Given the description of an element on the screen output the (x, y) to click on. 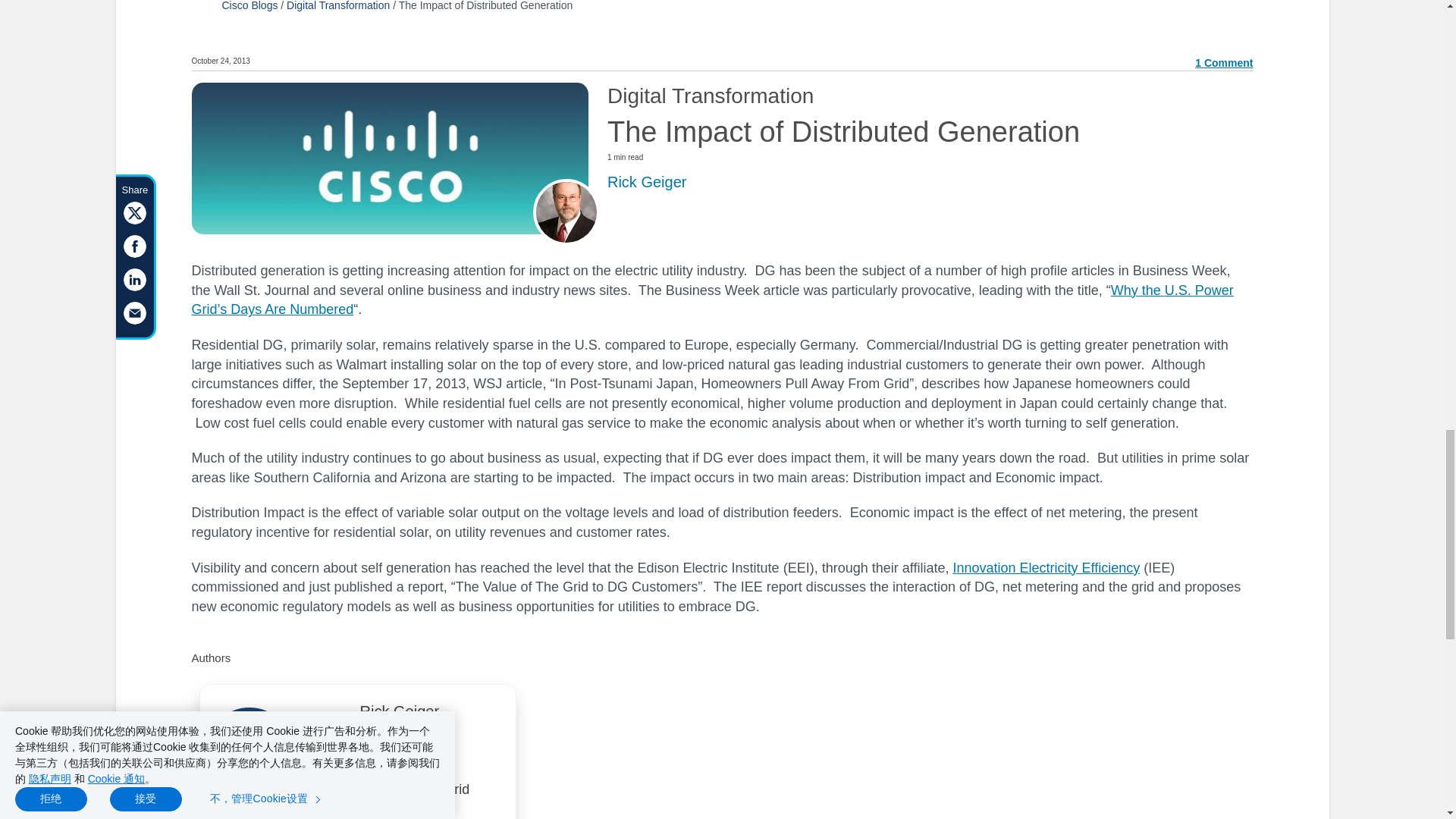
Rick Geiger (646, 180)
Posts by Rick Geiger (646, 180)
Cisco Blogs (249, 5)
Digital Transformation (338, 5)
Innovation Electricity Efficiency (1046, 566)
Innovation Electricity Efficiency (1046, 566)
Rick Geiger (399, 715)
